Given the description of an element on the screen output the (x, y) to click on. 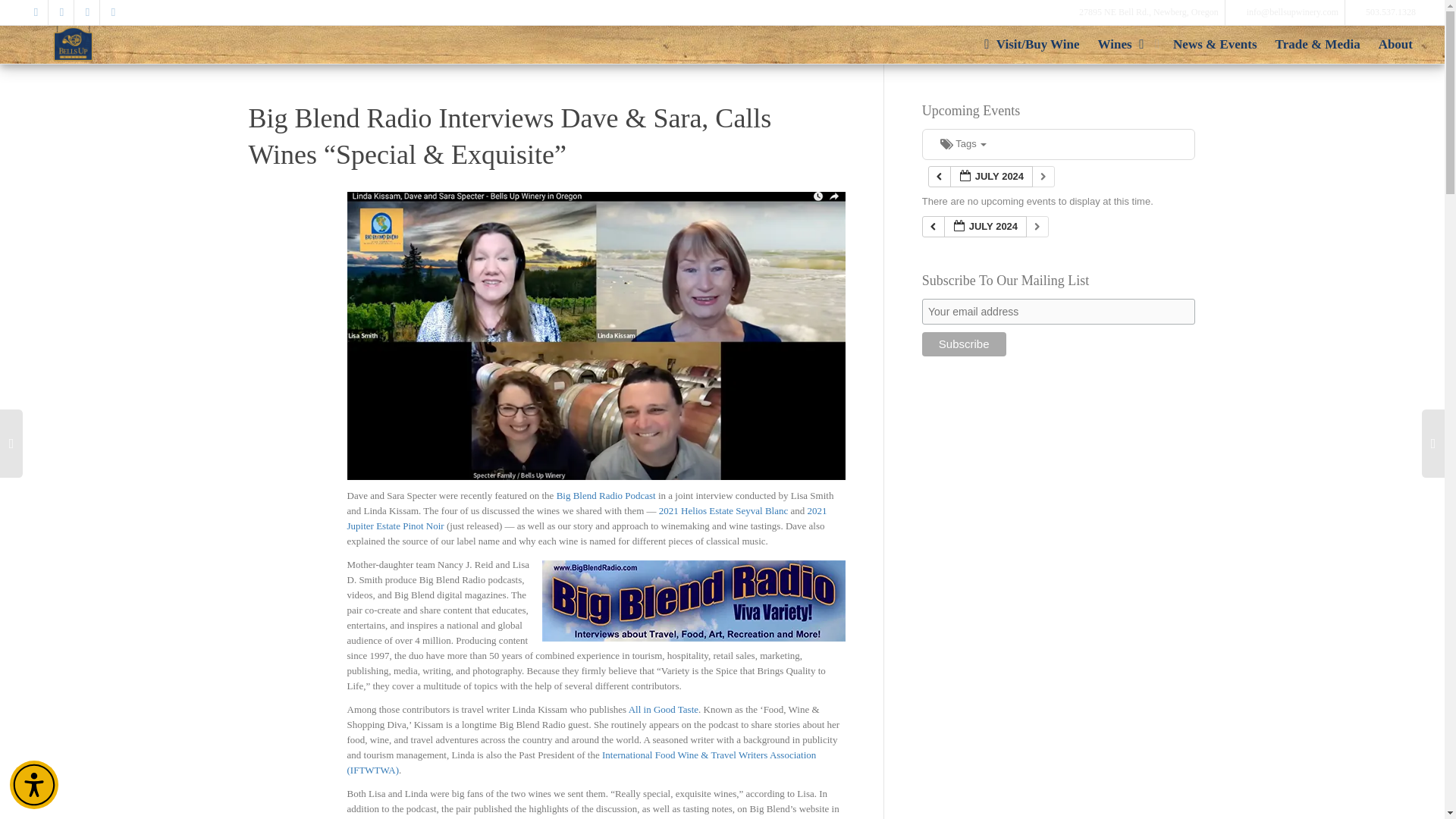
27895 NE Bell Rd., Newberg, Oregon (1149, 12)
Wines (1126, 44)
503.537.1328 (1390, 12)
27895 NE Bell Rd., Newberg, Oregon (1149, 12)
About (1395, 44)
About (1395, 44)
Accessibility Menu (34, 784)
Bells Up Winery (72, 43)
Subscribe (963, 344)
Wines (1126, 44)
